Given the description of an element on the screen output the (x, y) to click on. 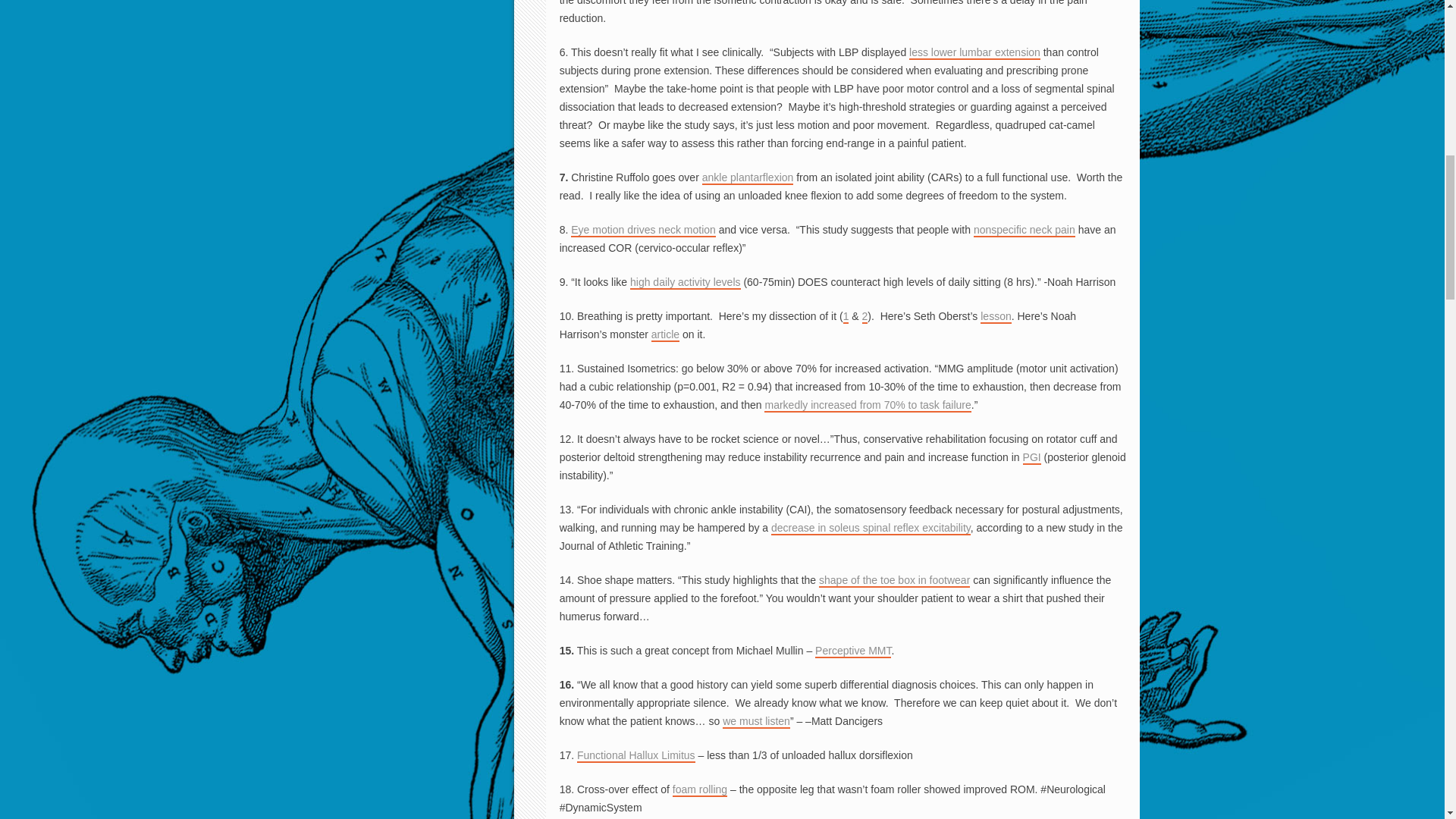
PGI (1032, 458)
less lower lumbar extension (974, 52)
high daily activity levels (685, 282)
Eye motion drives neck motion (643, 230)
nonspecific neck pain (1024, 230)
Perceptive MMT (853, 651)
foam rolling (699, 789)
shape of the toe box in footwear (893, 581)
ankle plantarflexion (747, 178)
we must listen (756, 721)
lesson (994, 316)
decrease in soleus spinal reflex excitability (871, 528)
article (664, 335)
Functional Hallux Limitus (635, 755)
